Given the description of an element on the screen output the (x, y) to click on. 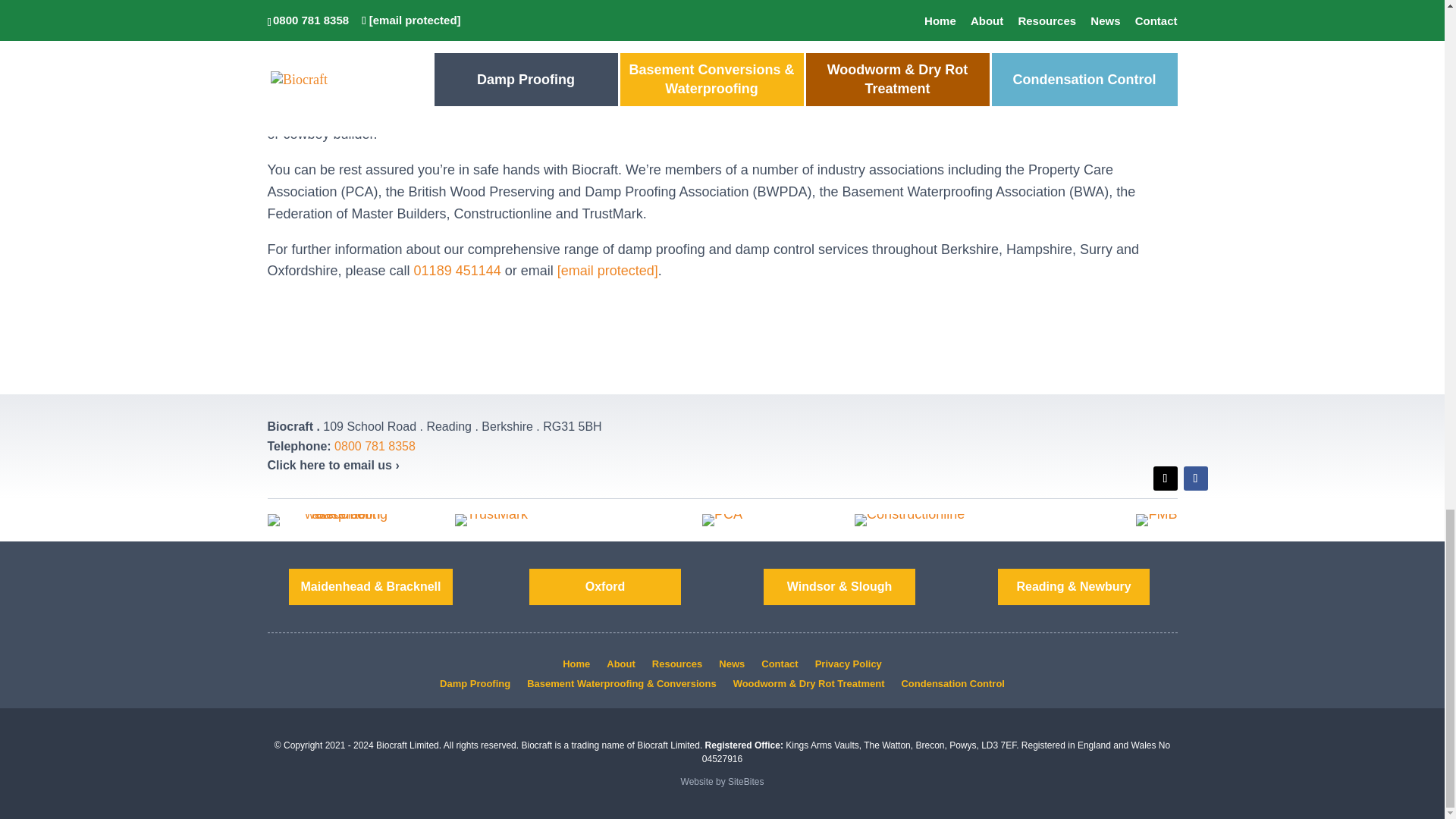
Follow on Facebook (1194, 478)
TrustMark NEW 1 (490, 520)
basement-waterproofing-association-logo (339, 520)
Follow on X (1164, 478)
